Given the description of an element on the screen output the (x, y) to click on. 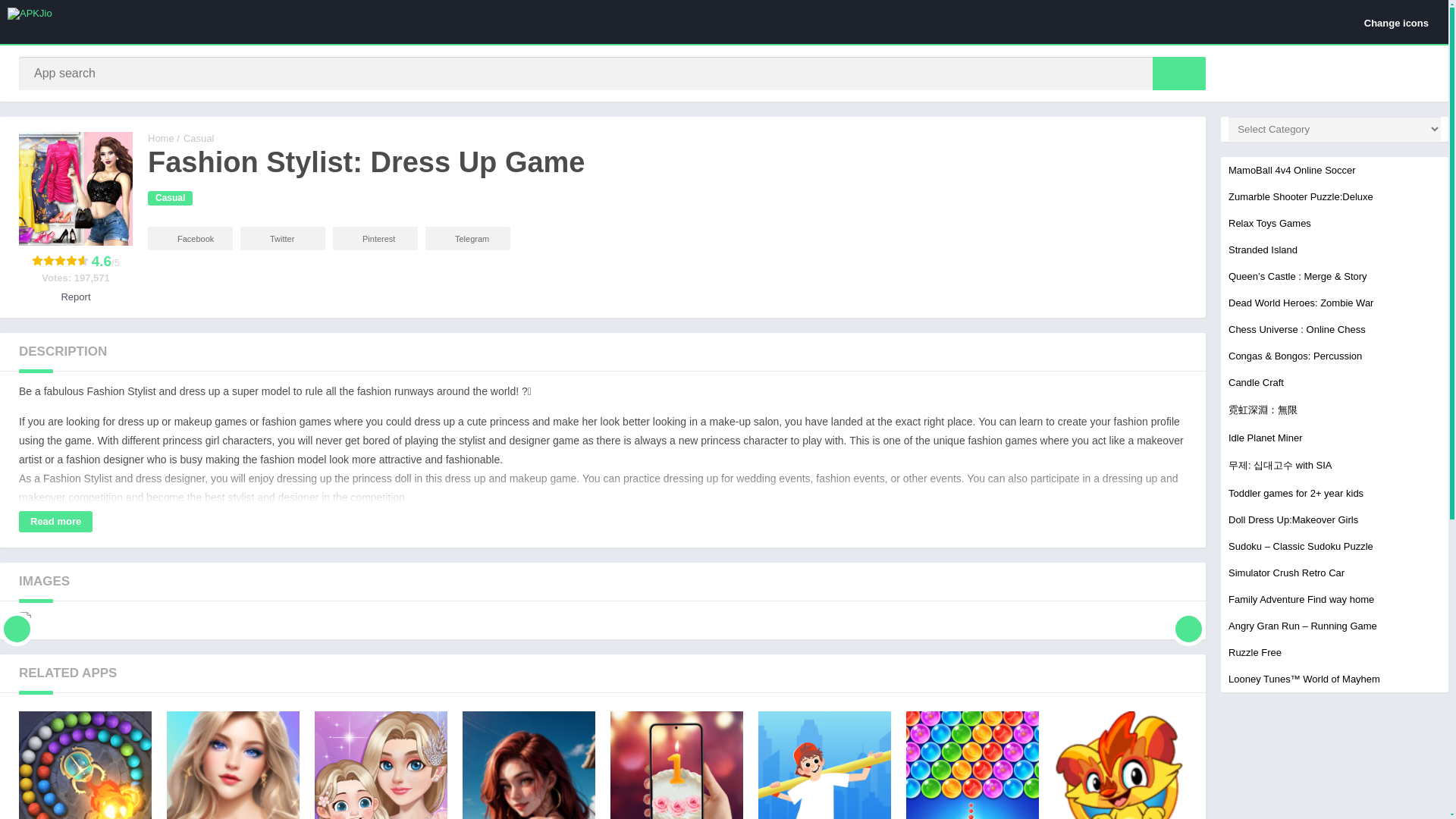
Telegram (676, 765)
Casual (468, 238)
Casual (824, 765)
Home (170, 197)
Facebook (198, 138)
Next (161, 138)
App search (190, 238)
Change icons (1188, 617)
APKJio (1120, 765)
Previous (1179, 73)
